Given the description of an element on the screen output the (x, y) to click on. 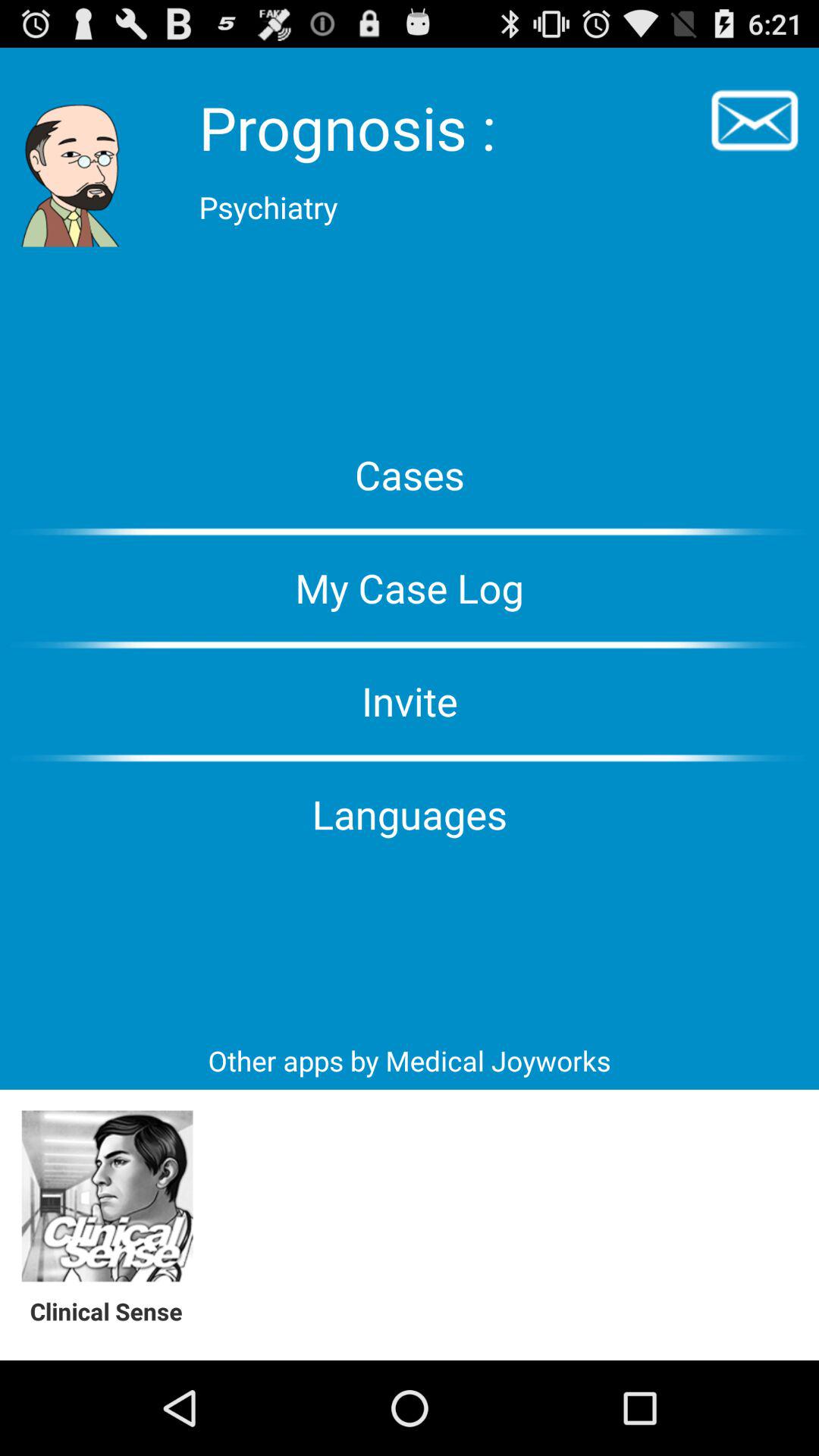
click the languages button (409, 813)
